Given the description of an element on the screen output the (x, y) to click on. 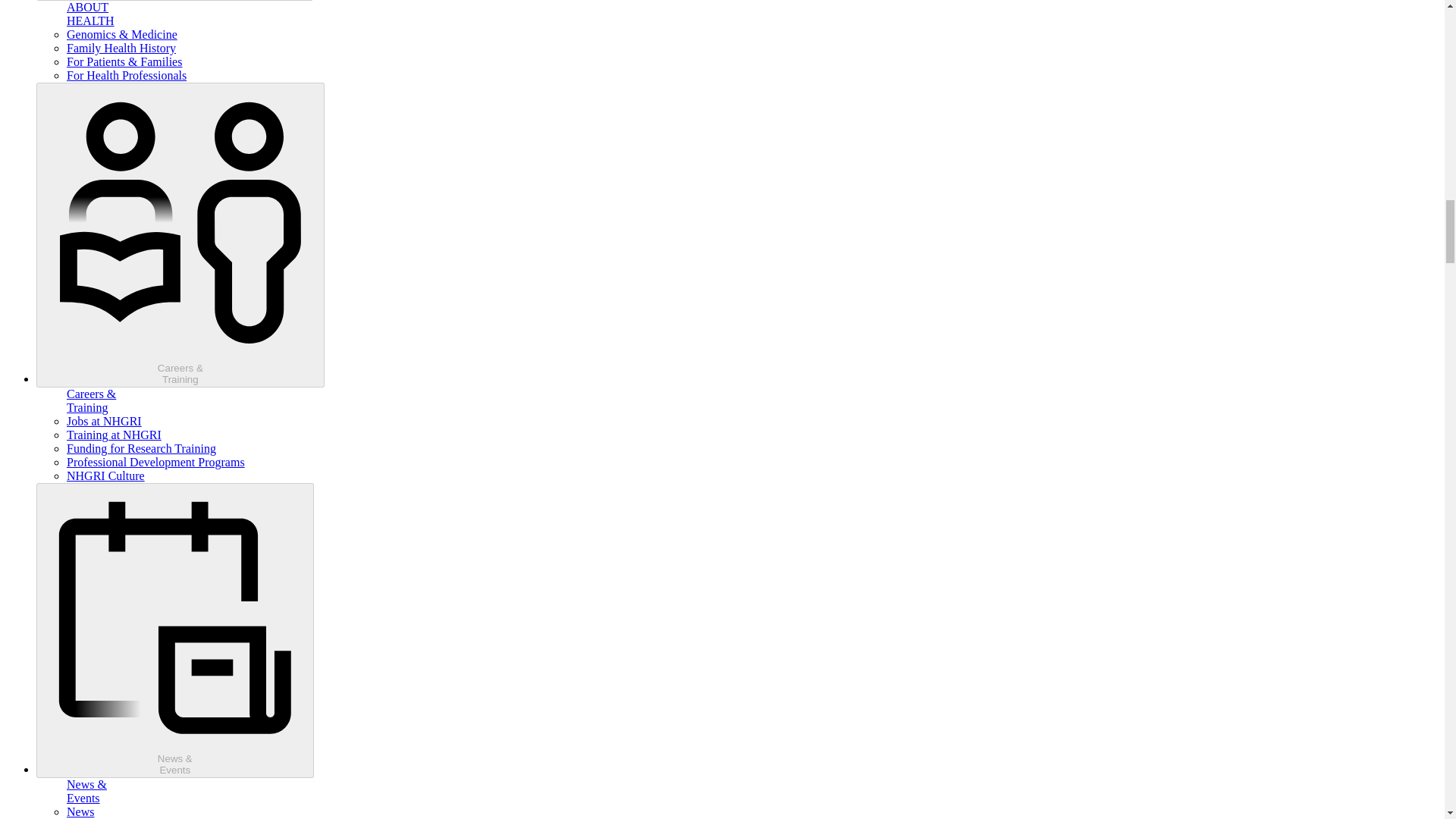
Family Health History (126, 74)
Jobs at NHGRI (121, 47)
